Given the description of an element on the screen output the (x, y) to click on. 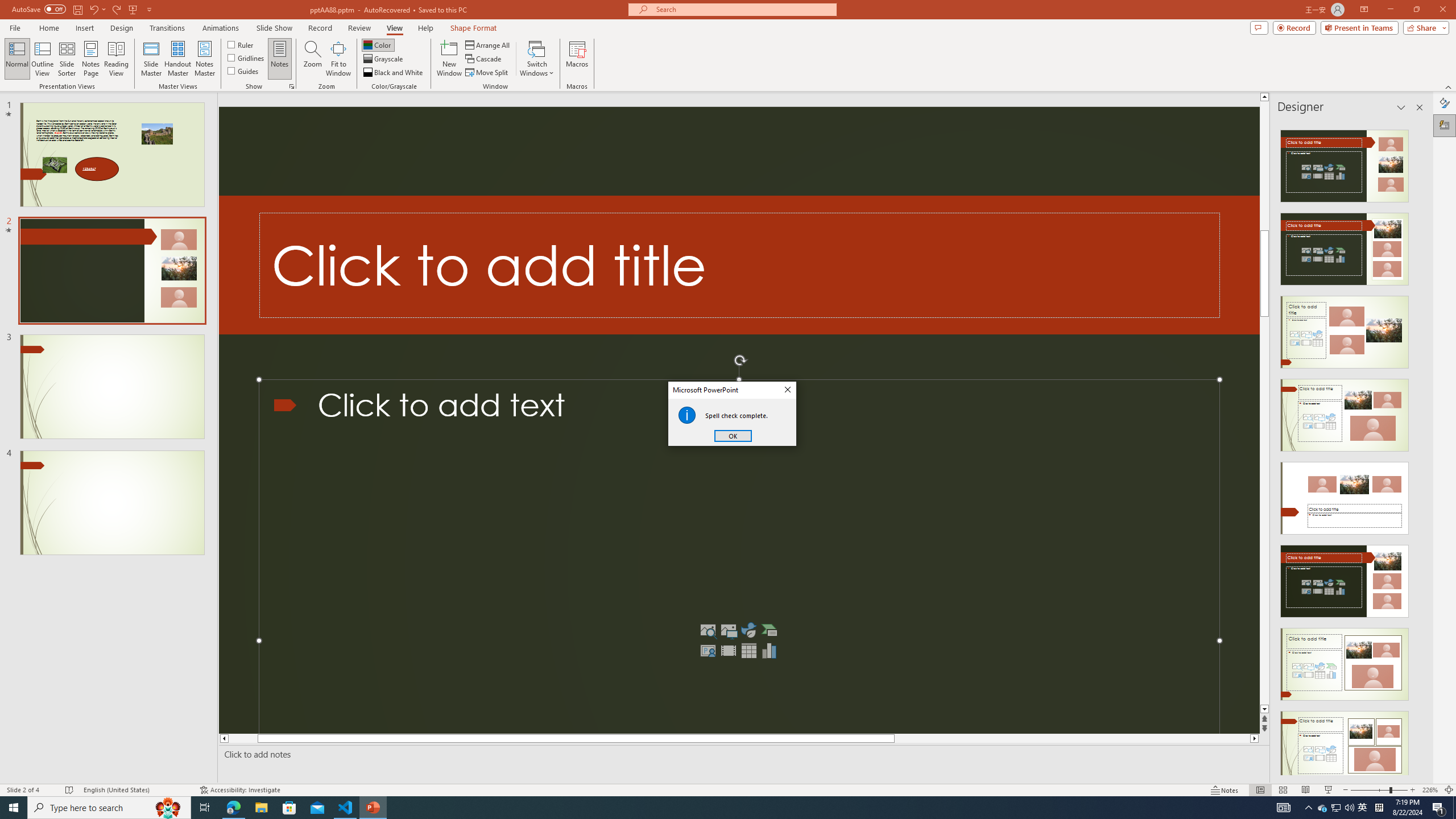
Class: NetUIScrollBar (1418, 447)
Insert an Icon (748, 629)
Fit to Window (338, 58)
Insert Chart (769, 650)
